Given the description of an element on the screen output the (x, y) to click on. 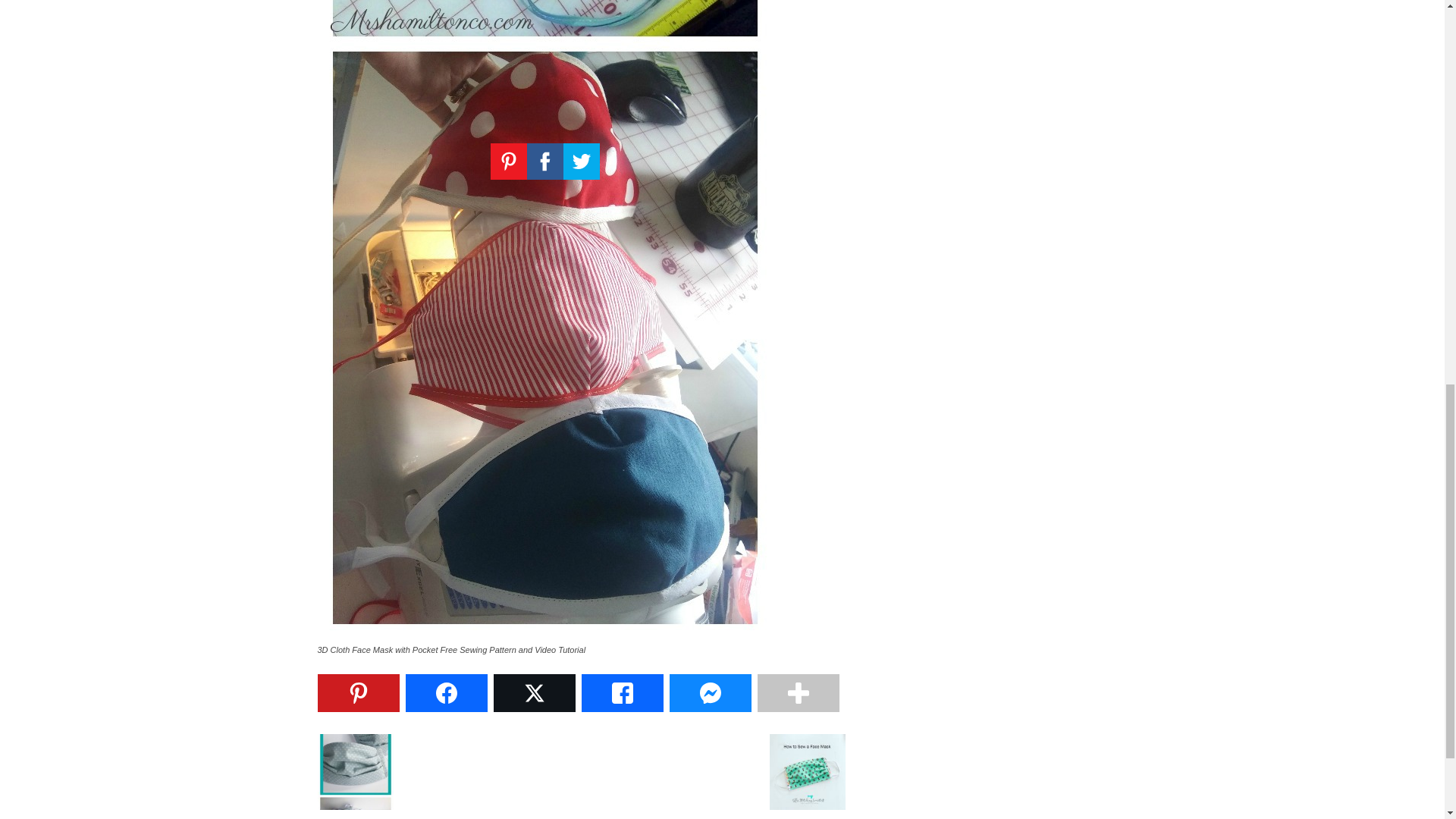
Share on Pinterest (357, 692)
Share on Facebook Messenger (709, 692)
Share on Like (621, 692)
Share on Twitter (534, 692)
Share on More Button (797, 692)
Share on Facebook (445, 692)
